Given the description of an element on the screen output the (x, y) to click on. 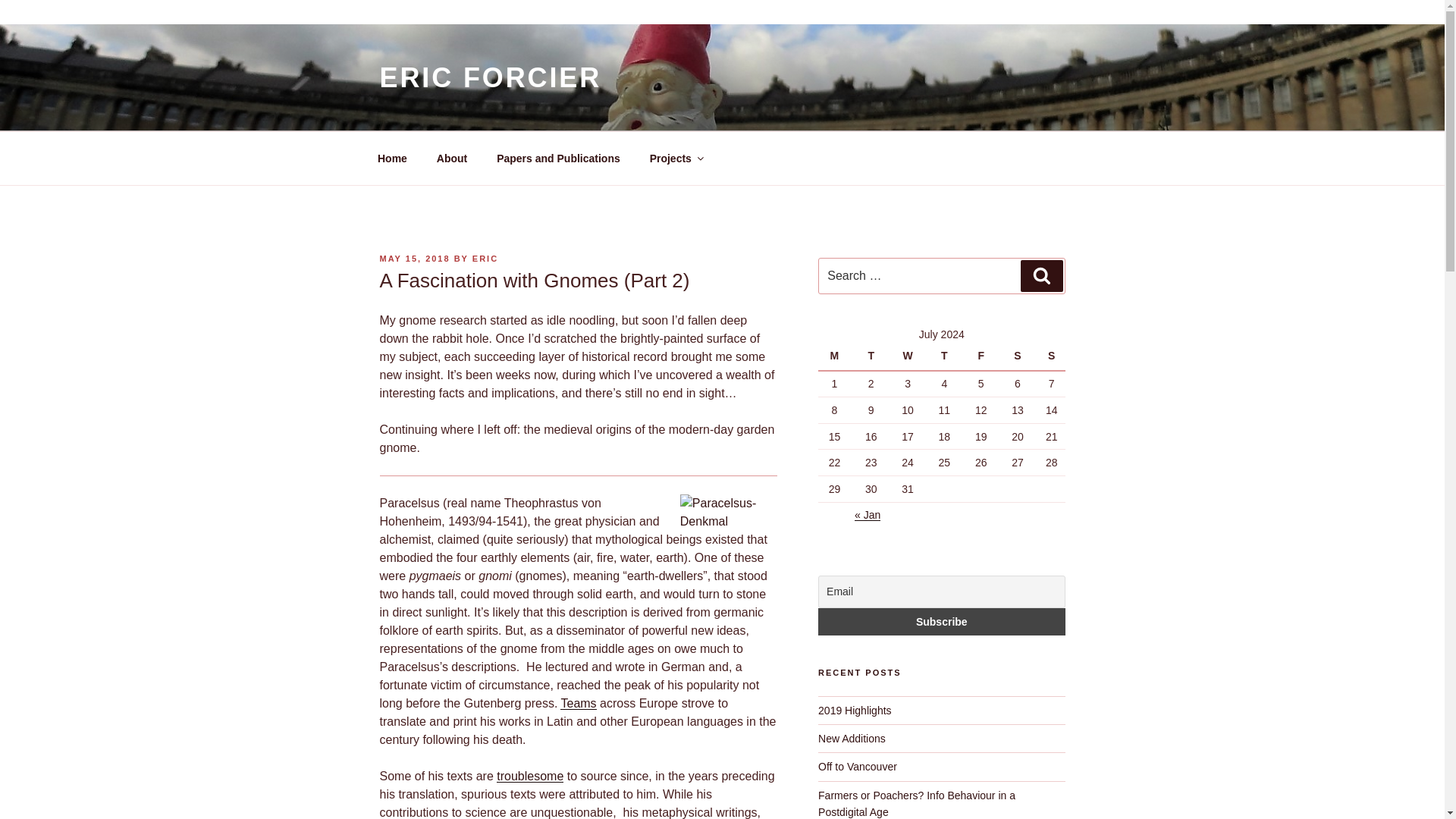
About (451, 157)
Home (392, 157)
2019 Highlights (854, 710)
Subscribe (941, 621)
Sunday (1051, 357)
troublesome (529, 775)
Thursday (945, 357)
Tuesday (872, 357)
Friday (982, 357)
Teams (577, 703)
Papers and Publications (558, 157)
Wednesday (909, 357)
Monday (836, 357)
ERIC (484, 257)
Subscribe (941, 621)
